Given the description of an element on the screen output the (x, y) to click on. 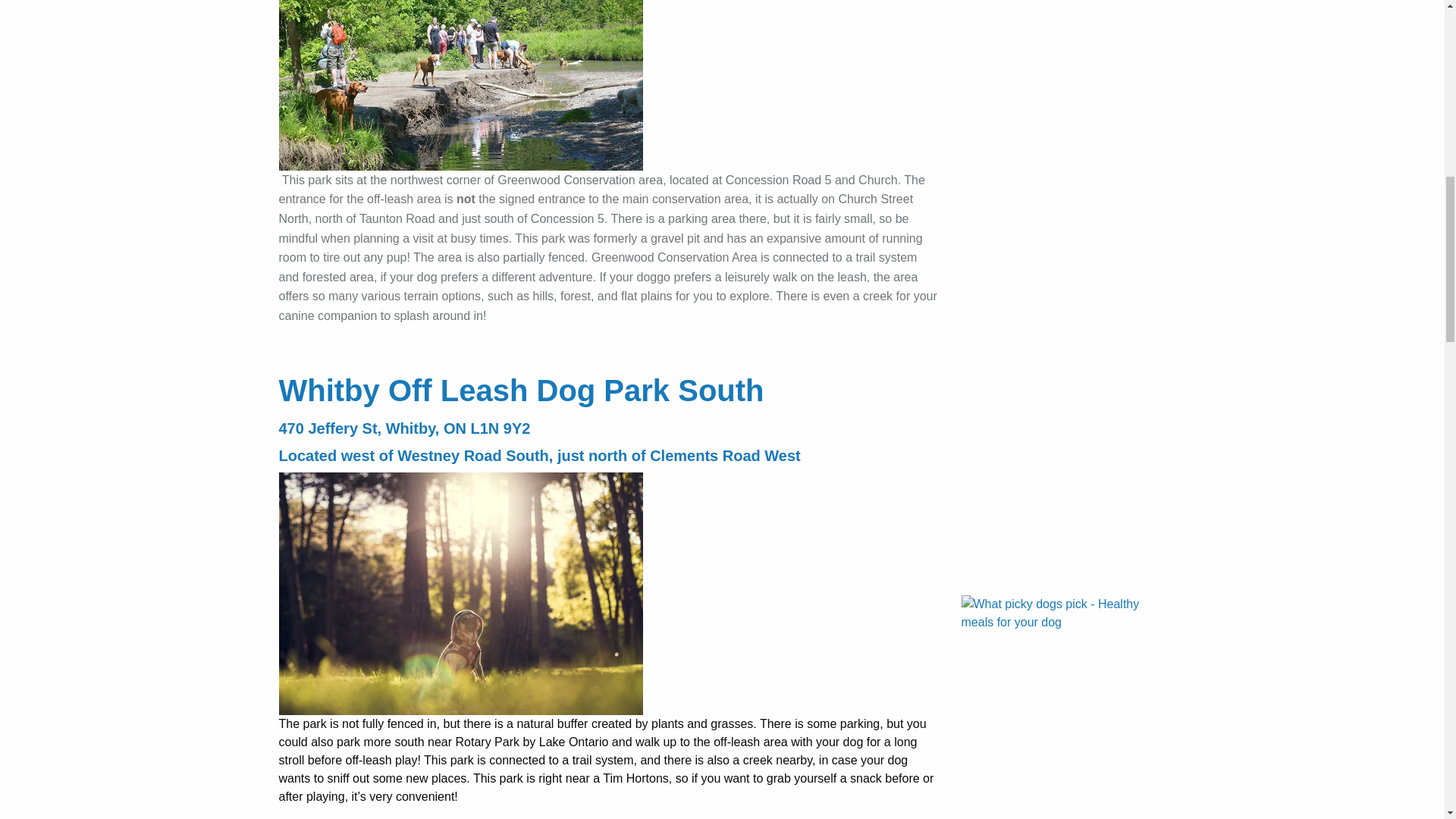
Whitby Off Leash Dog Park South (521, 390)
470 Jeffery St, Whitby, ON L1N 9Y2 (405, 428)
